Given the description of an element on the screen output the (x, y) to click on. 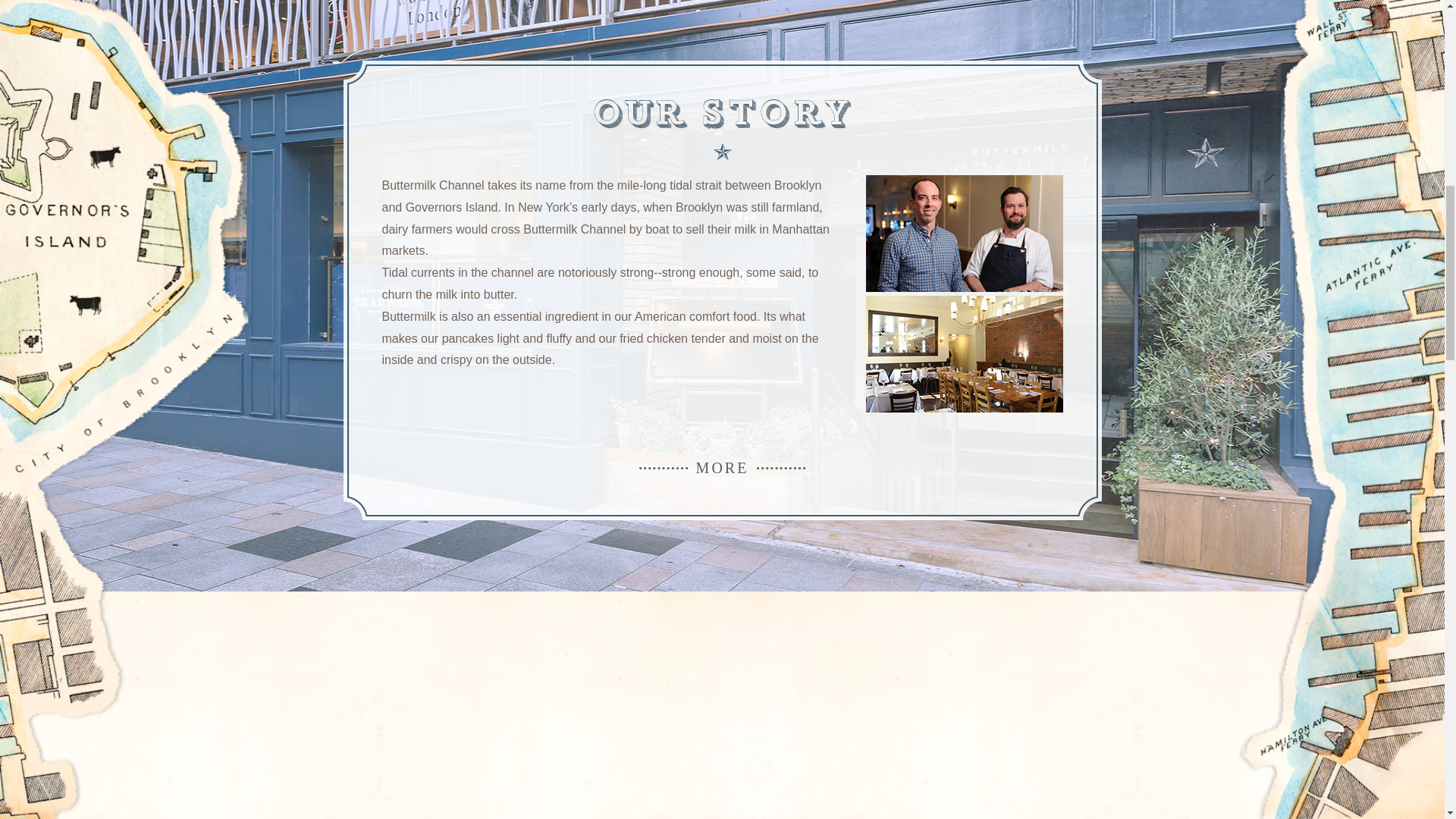
MORE (722, 467)
